Given the description of an element on the screen output the (x, y) to click on. 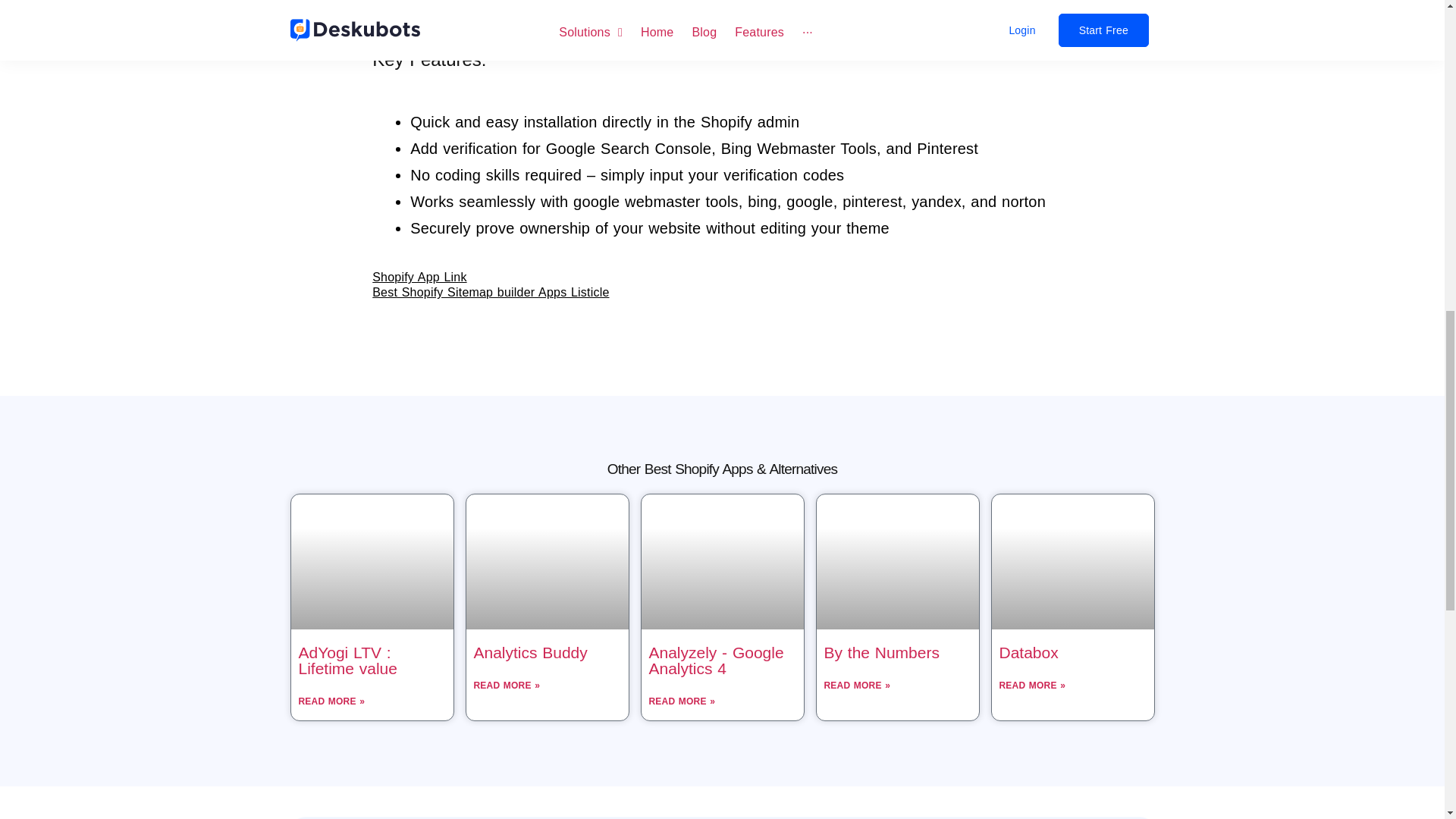
Shopify App Link (418, 277)
Best Shopify Sitemap builder Apps Listicle (490, 291)
